Given the description of an element on the screen output the (x, y) to click on. 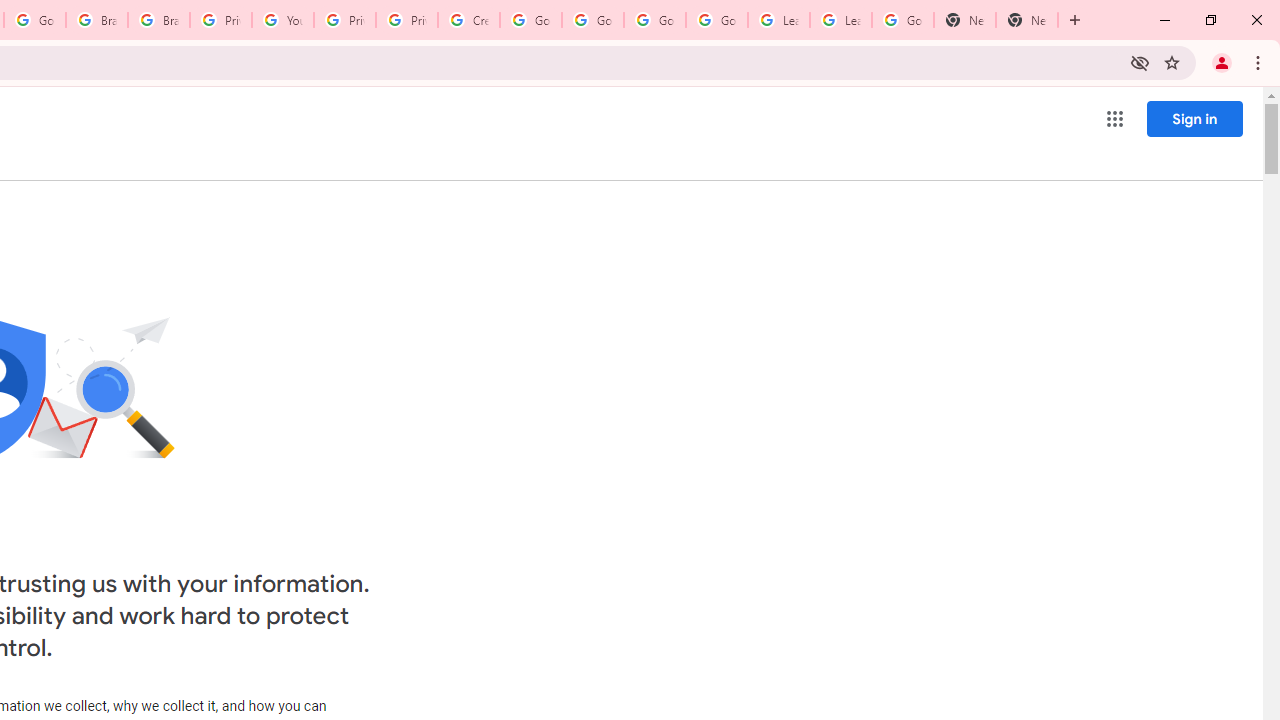
Create your Google Account (468, 20)
Brand Resource Center (96, 20)
New Tab (964, 20)
Brand Resource Center (158, 20)
New Tab (1026, 20)
Google Account Help (592, 20)
